Given the description of an element on the screen output the (x, y) to click on. 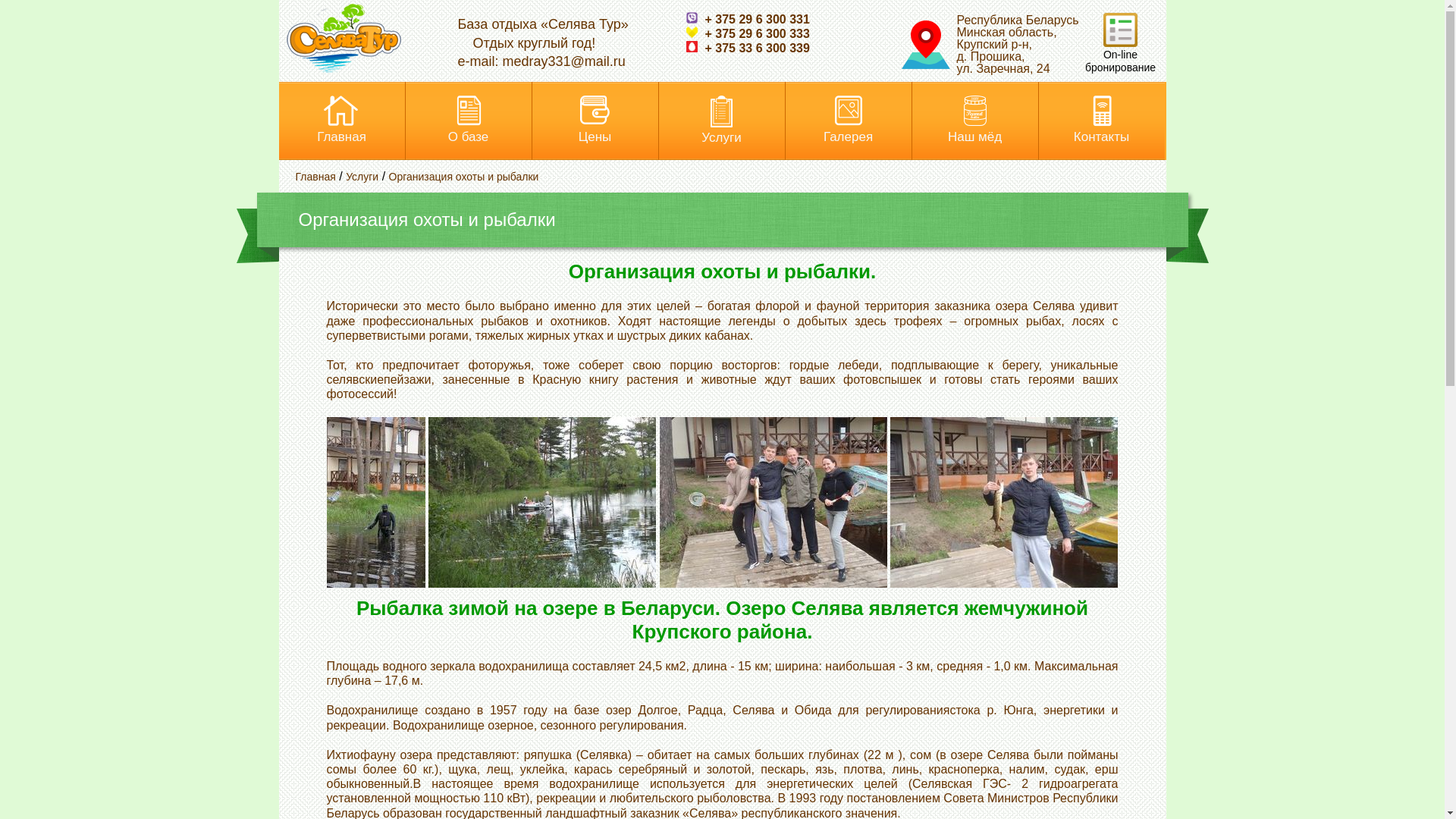
+ 375 29 6 300 333 Element type: text (747, 33)
medray331@mail.ru Element type: text (563, 61)
+ 375 33 6 300 339 Element type: text (747, 47)
+ 375 29 6 300 331 Element type: text (747, 18)
